Given the description of an element on the screen output the (x, y) to click on. 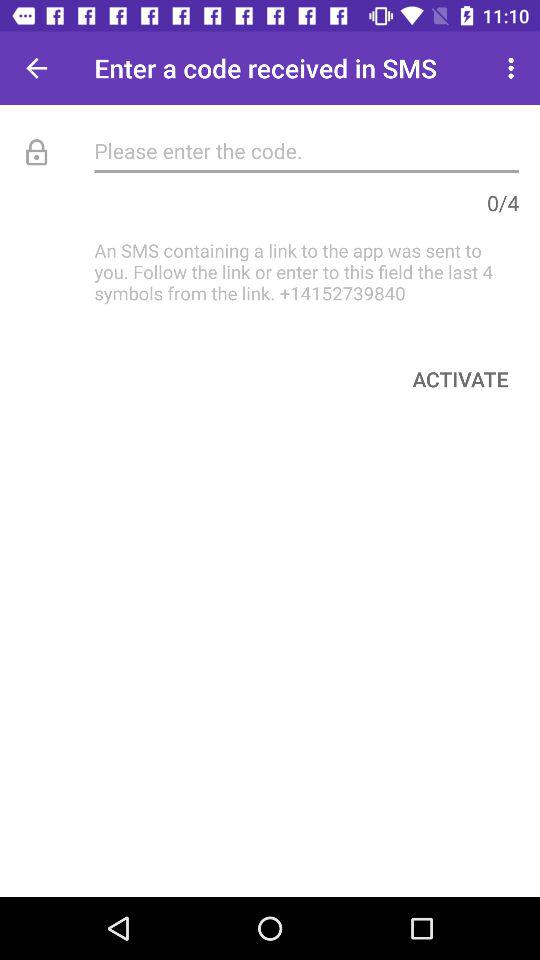
launch item to the left of enter a code (36, 68)
